Given the description of an element on the screen output the (x, y) to click on. 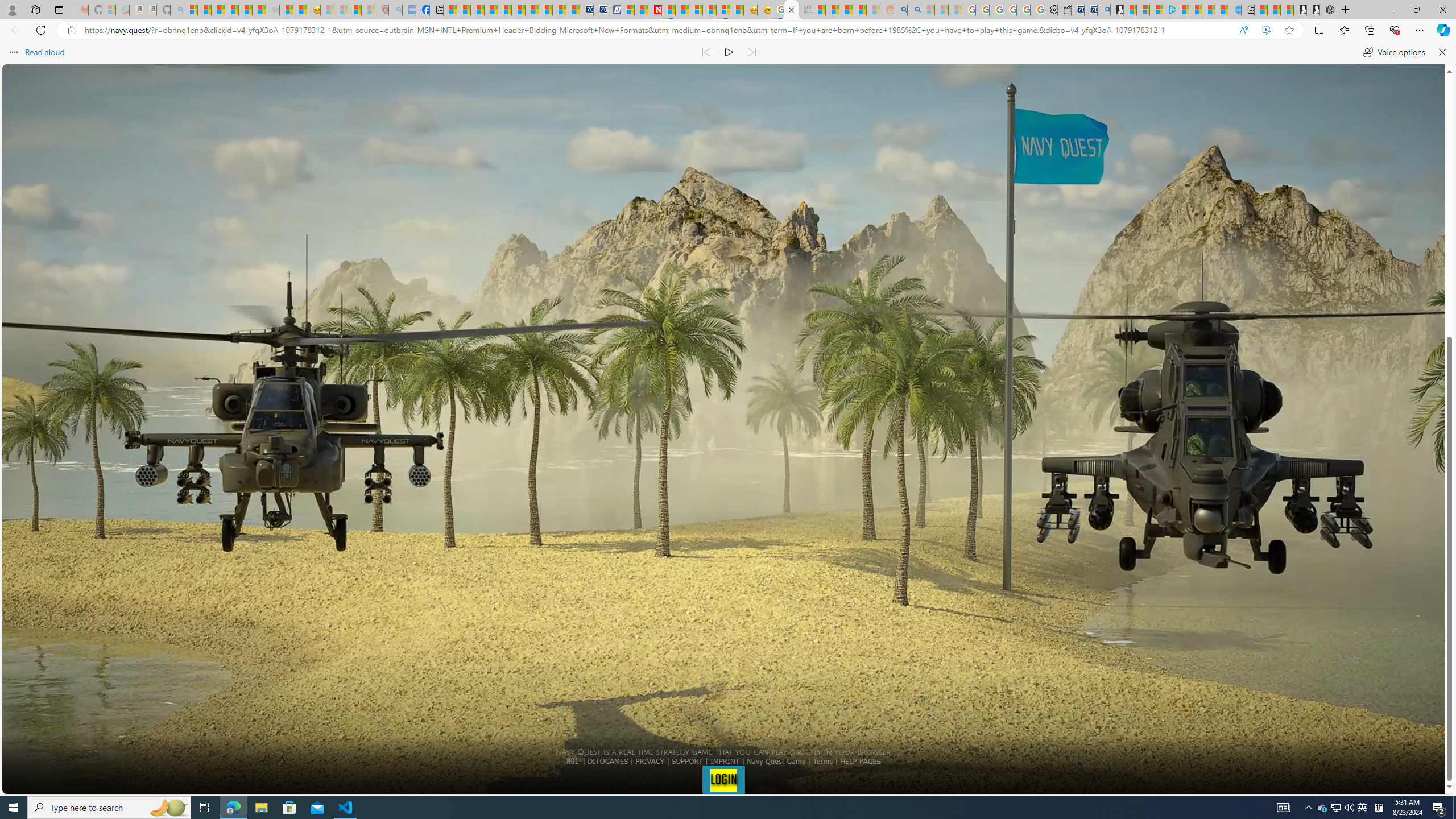
Student Loan Update: Forgiveness Program Ends This Month (858, 9)
IMPRINT (724, 760)
